Given the description of an element on the screen output the (x, y) to click on. 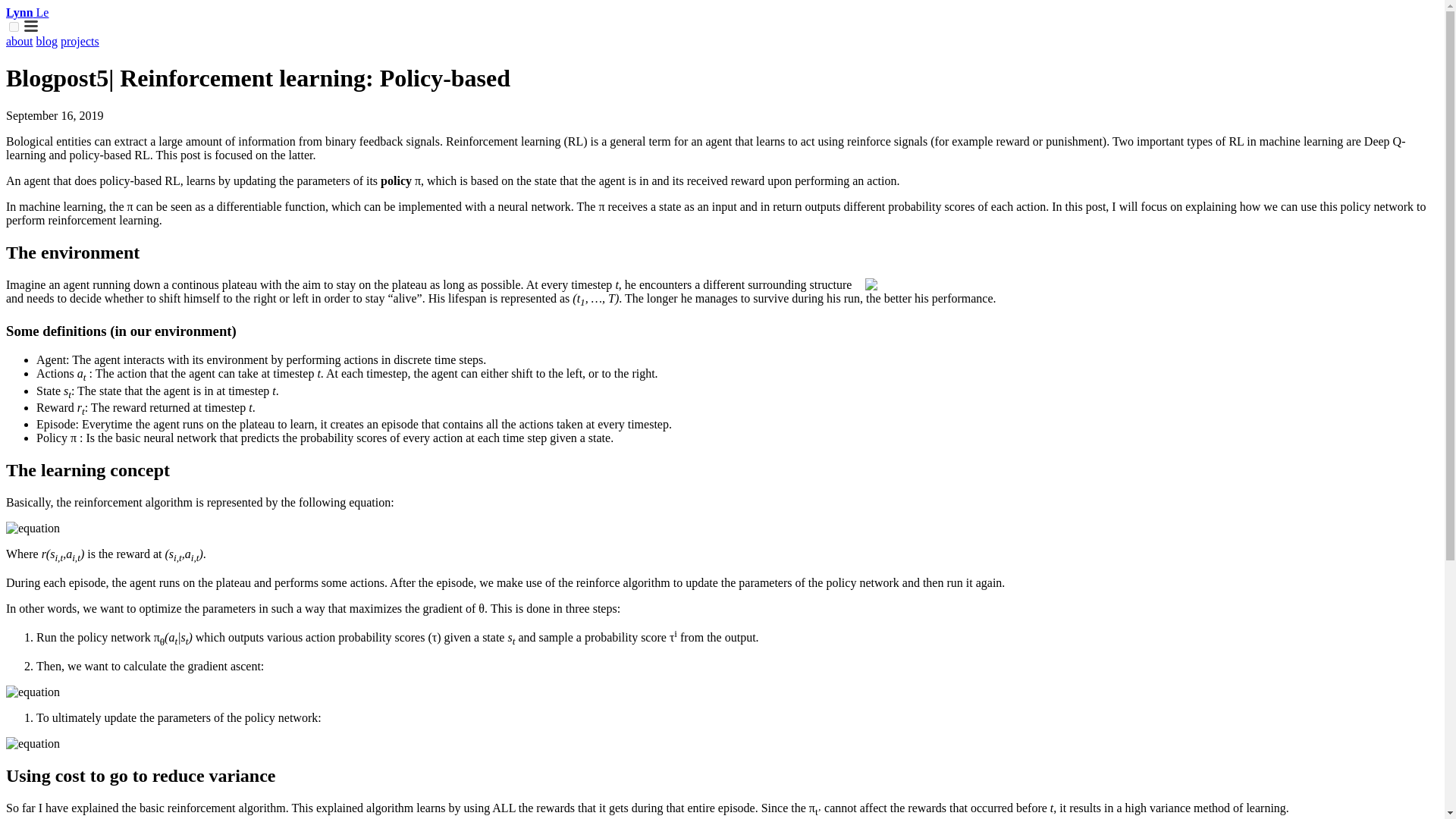
on (13, 26)
Lynn Le (26, 11)
about (19, 41)
blog (47, 41)
projects (80, 41)
